Given the description of an element on the screen output the (x, y) to click on. 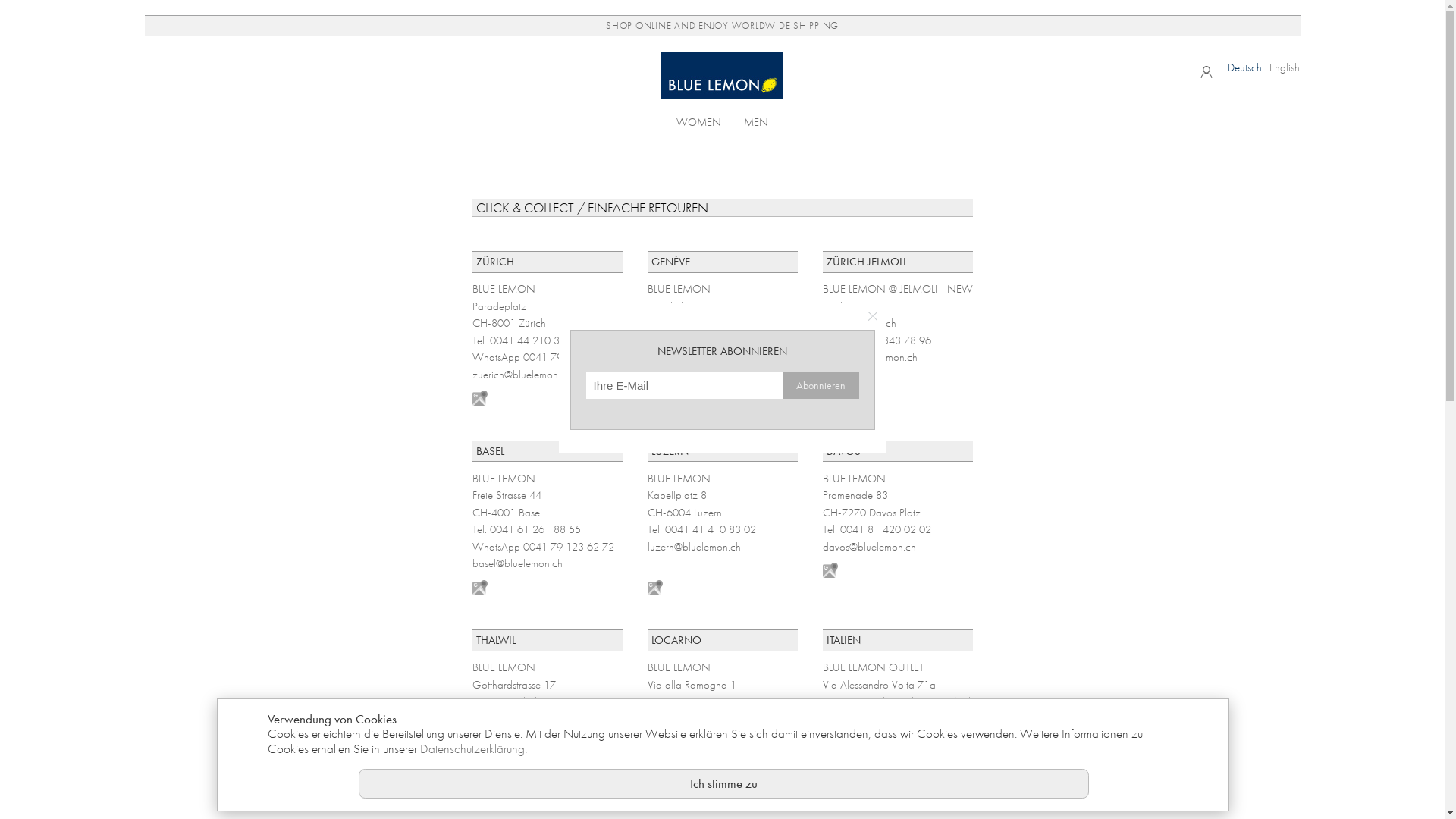
0041 79 123 62 72 Element type: text (568, 545)
jelmoli@bluelemon.ch Element type: text (869, 356)
luzern@bluelemon.ch Element type: text (693, 545)
WOMEN Element type: text (698, 120)
thalwil@bluelemon.ch Element type: text (518, 735)
davos@bluelemon.ch Element type: text (868, 545)
SHOP ONLINE AND ENJOY WORLDWIDE SHIPPING Element type: text (721, 25)
genf@bluelemon.ch Element type: text (690, 374)
0041 79 508 49 27 Element type: text (742, 356)
Deutsch Element type: text (1244, 67)
MEN Element type: text (755, 120)
Ich stimme zu Element type: text (723, 782)
0041 79 123 62 42 Element type: text (568, 356)
locarno@bluelemon.ch Element type: text (697, 735)
zuerich@bluelemon.ch Element type: text (520, 374)
English Element type: text (1284, 67)
basel@bluelemon.ch Element type: text (516, 563)
